Given the description of an element on the screen output the (x, y) to click on. 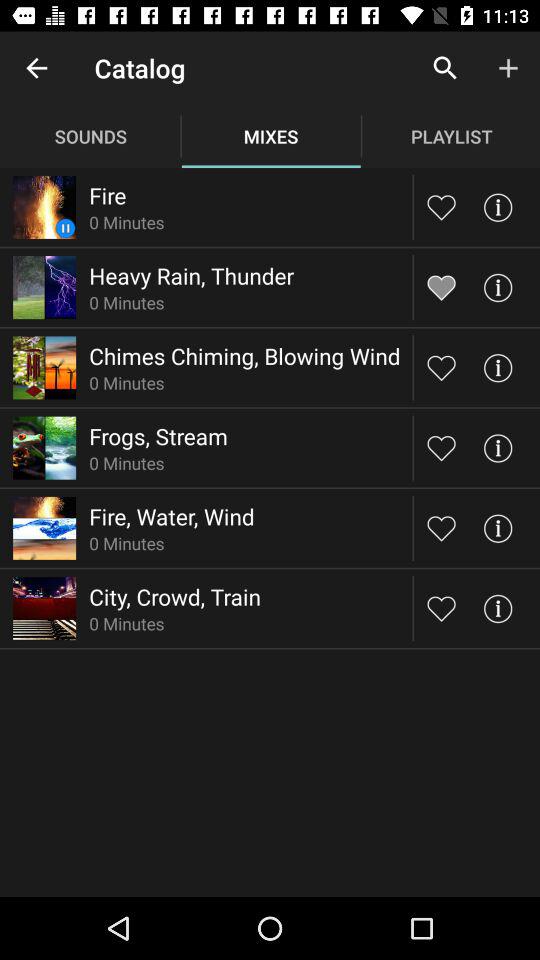
go to the i option for fire (498, 206)
